Given the description of an element on the screen output the (x, y) to click on. 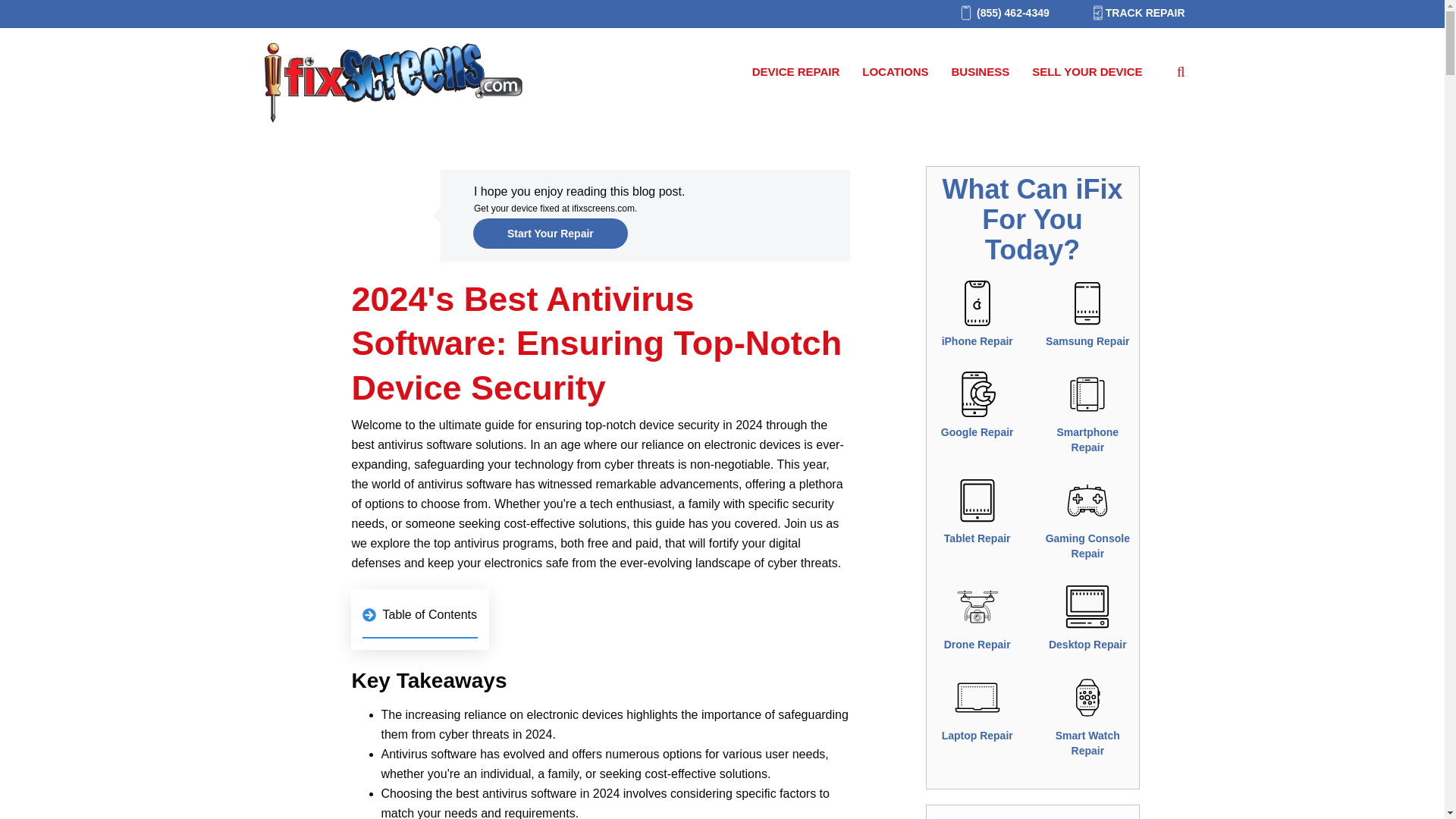
Search for: (1175, 71)
TRACK REPAIR (1131, 13)
Search (34, 15)
Start Your Repair (550, 233)
Table of Contents (419, 619)
LOCATIONS (894, 71)
BUSINESS (979, 71)
SELL YOUR DEVICE (1086, 71)
DEVICE REPAIR (796, 71)
